Given the description of an element on the screen output the (x, y) to click on. 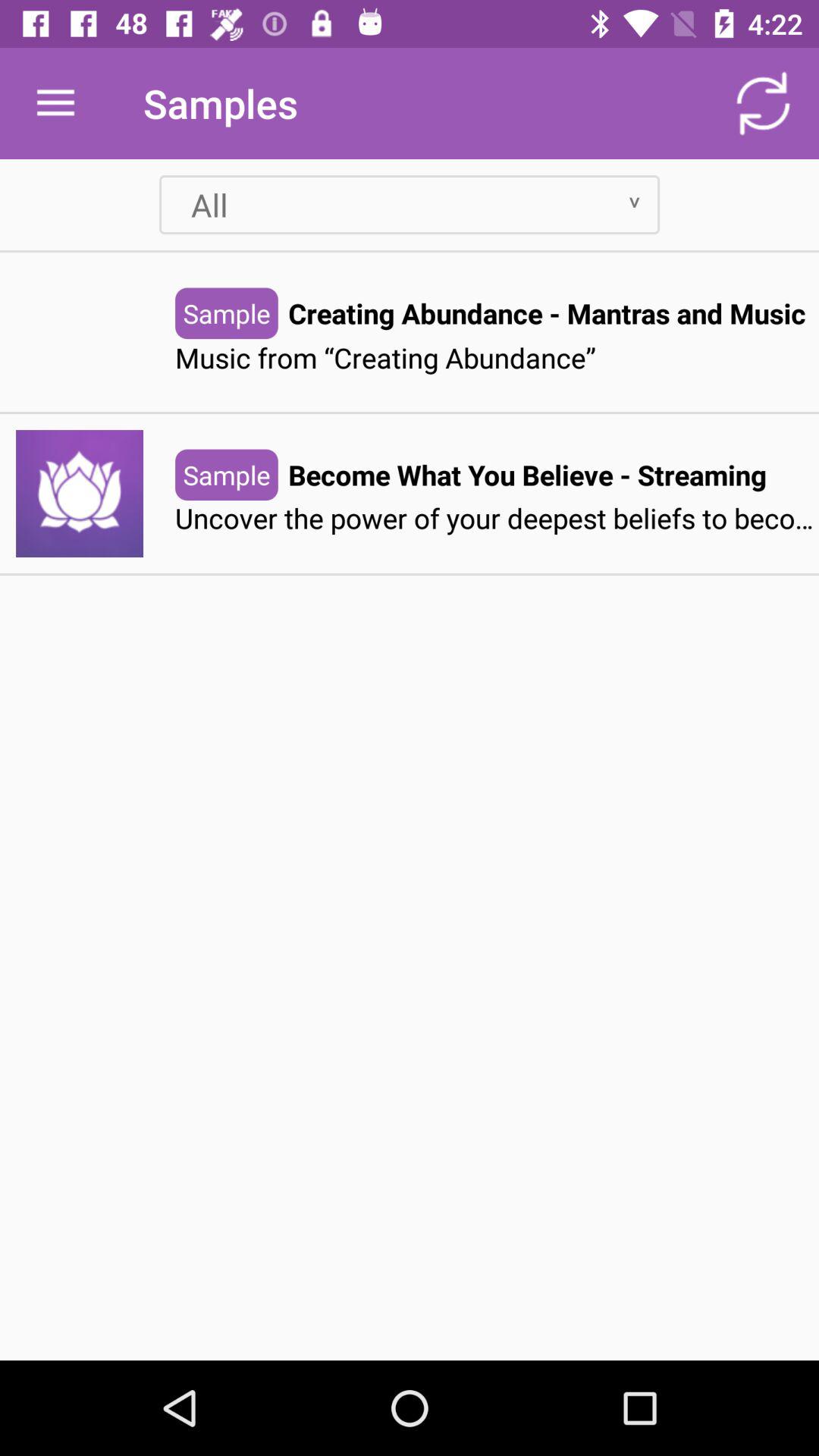
jump until become what you item (527, 474)
